Given the description of an element on the screen output the (x, y) to click on. 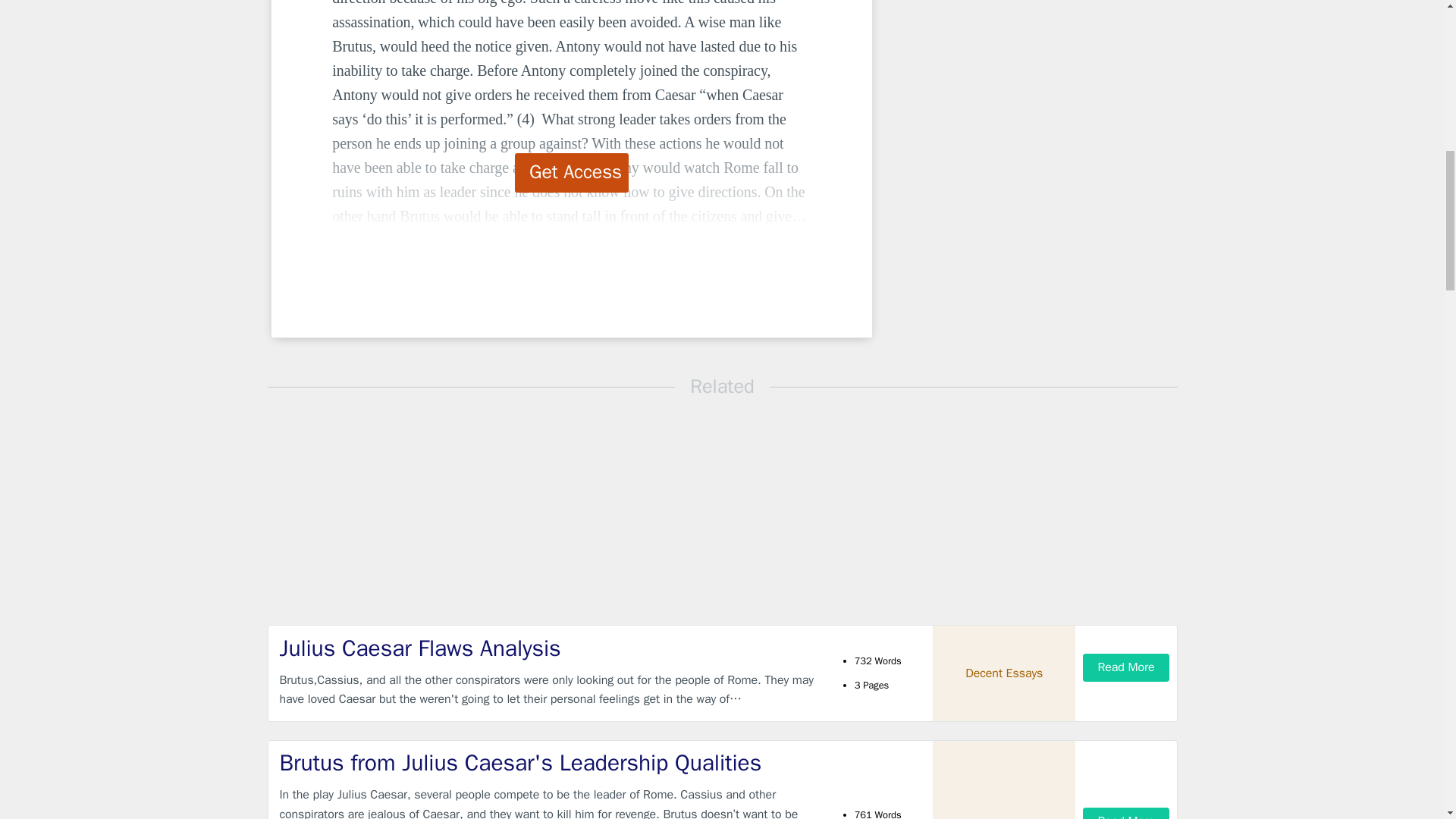
Julius Caesar Flaws Analysis (548, 648)
Read More (1126, 667)
Read More (1126, 813)
Brutus from Julius Caesar's Leadership Qualities (548, 762)
Get Access (571, 172)
